Given the description of an element on the screen output the (x, y) to click on. 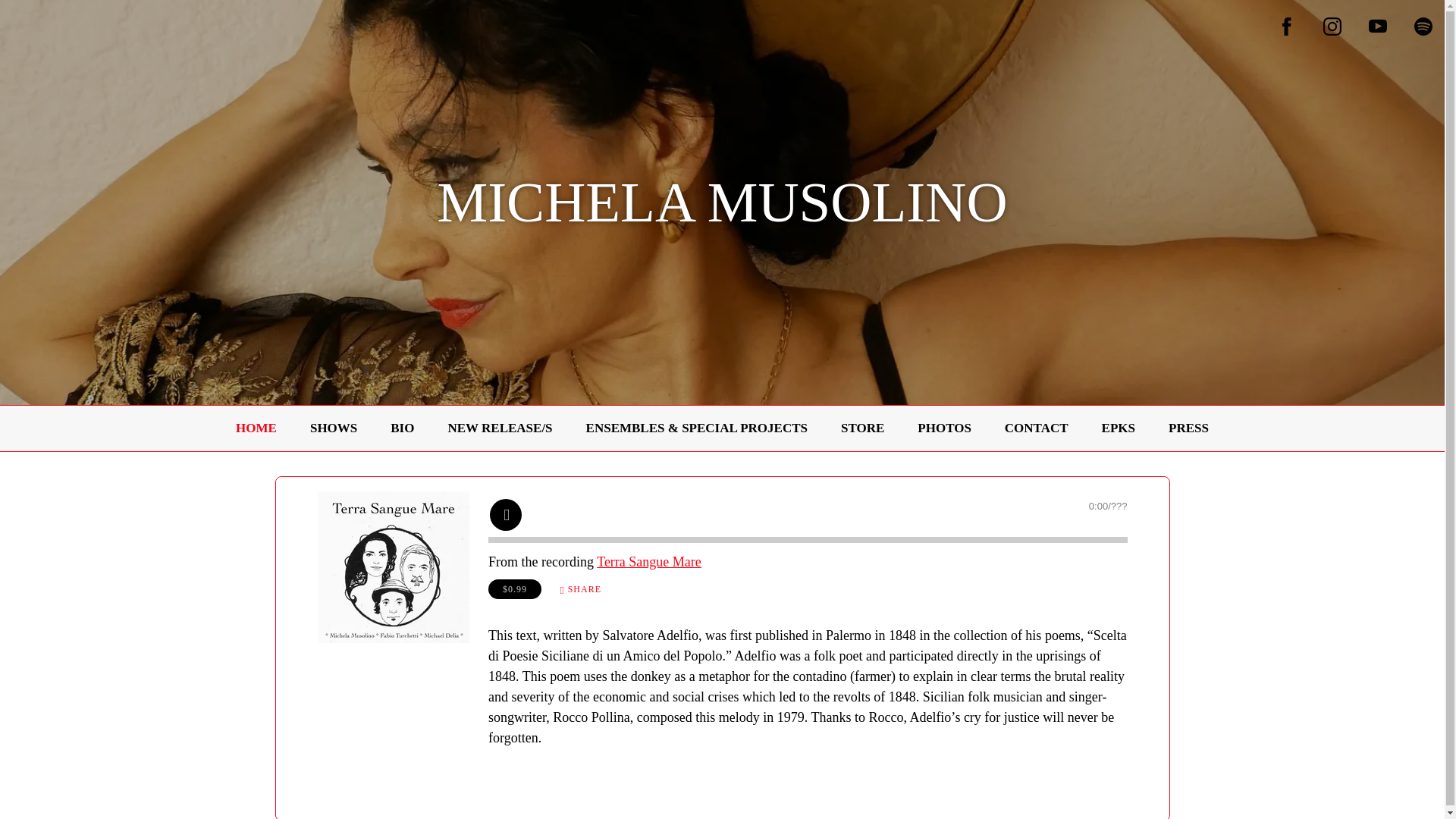
MICHELA MUSOLINO (721, 214)
STORE (862, 428)
BIO (401, 428)
HOME (255, 428)
Share U Sceccu (580, 588)
SHOWS (333, 428)
